Given the description of an element on the screen output the (x, y) to click on. 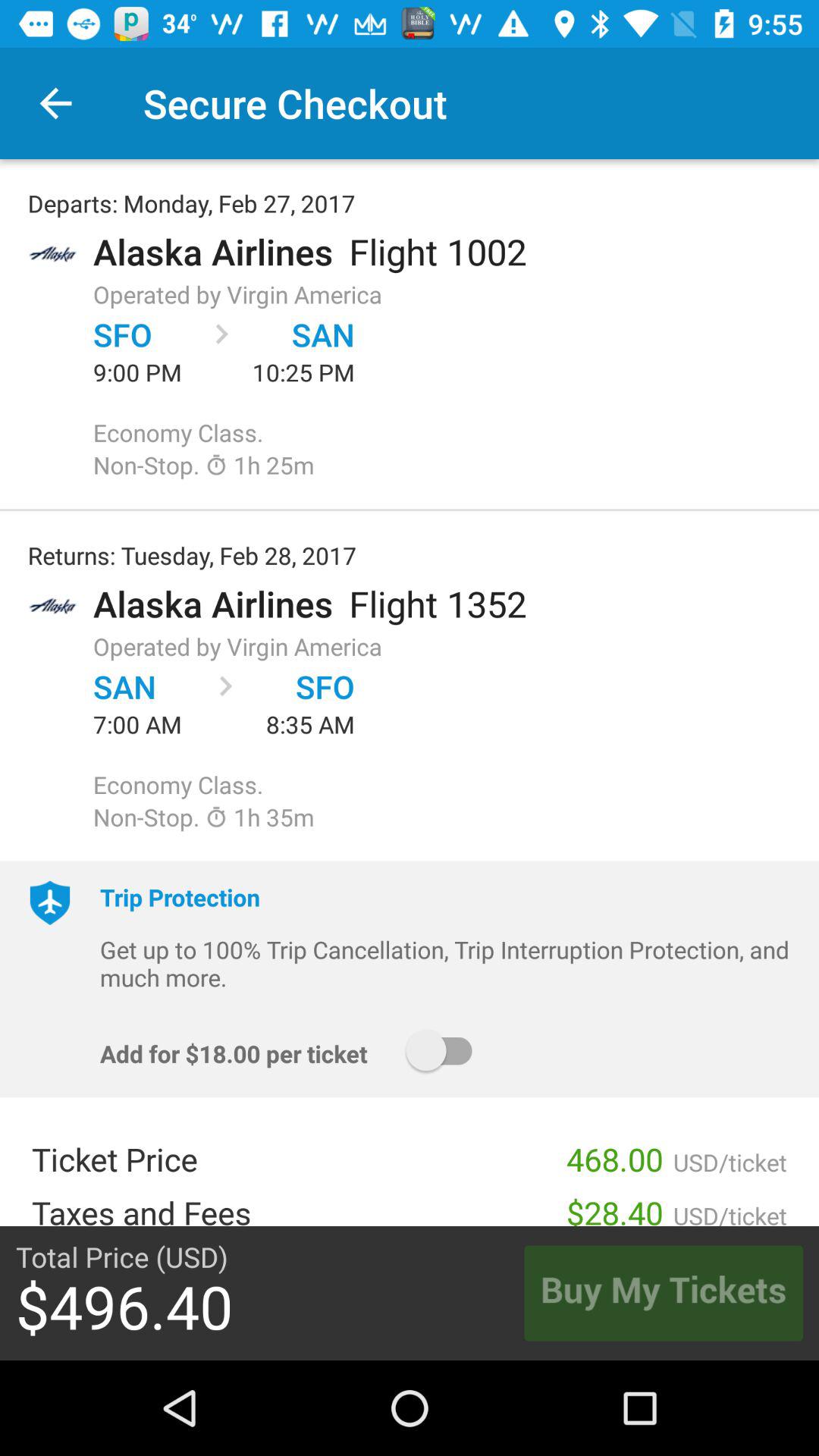
launch the icon above 468.00 item (446, 1050)
